Given the description of an element on the screen output the (x, y) to click on. 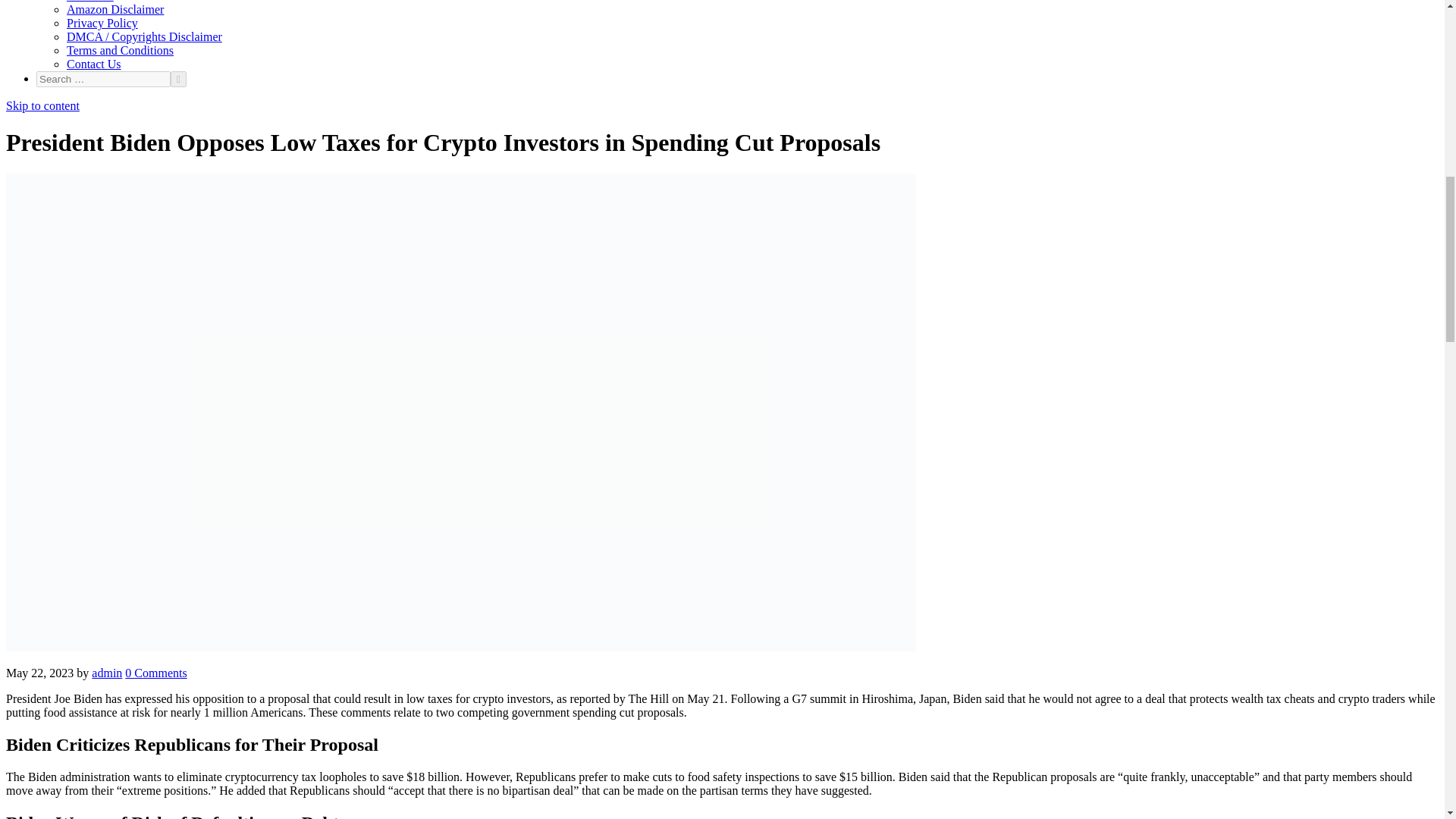
Privacy Policy (102, 22)
About Us (89, 1)
Amazon Disclaimer (114, 9)
Contact Us (93, 63)
Skip to content (42, 105)
Terms and Conditions (119, 50)
